Given the description of an element on the screen output the (x, y) to click on. 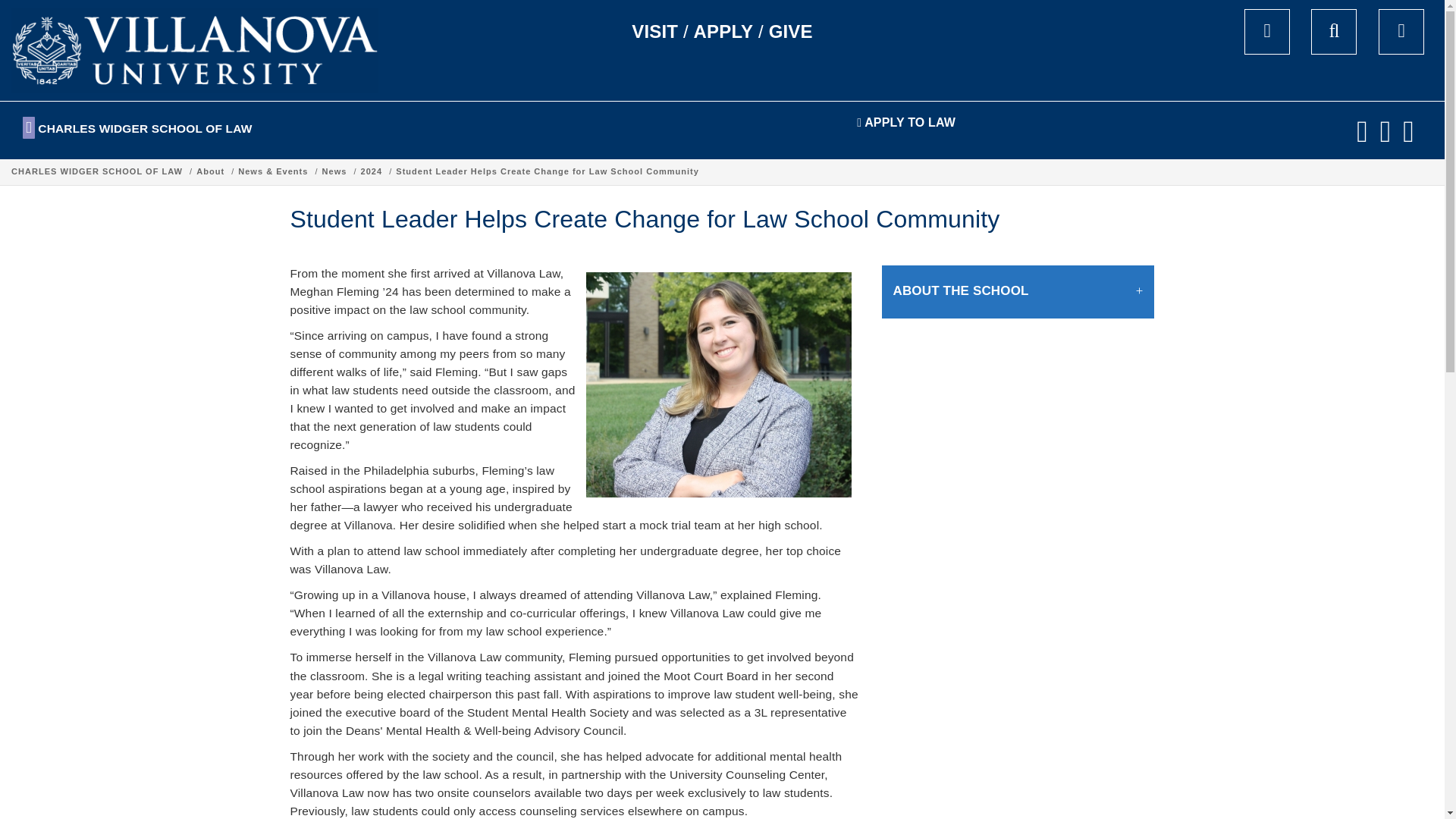
APPLY (724, 31)
GIVE (790, 31)
VISIT (654, 31)
